Given the description of an element on the screen output the (x, y) to click on. 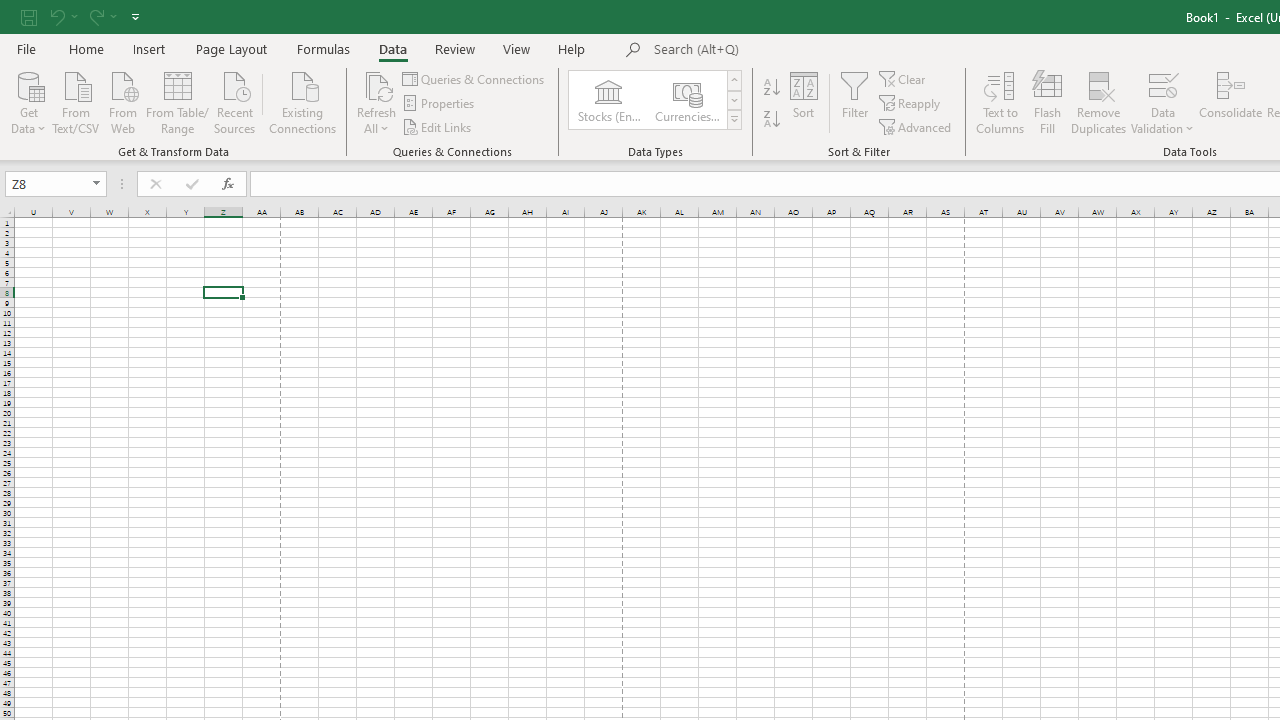
Properties (440, 103)
System (10, 11)
Sort Z to A (772, 119)
Stocks (English) (608, 100)
Page Layout (230, 48)
Customize Quick Access Toolbar (135, 15)
Data (392, 48)
Text to Columns... (1000, 102)
Recent Sources (235, 101)
Undo (56, 15)
Row Down (734, 100)
Quick Access Toolbar (82, 16)
Name Box (46, 183)
Save (29, 15)
Redo (102, 15)
